Given the description of an element on the screen output the (x, y) to click on. 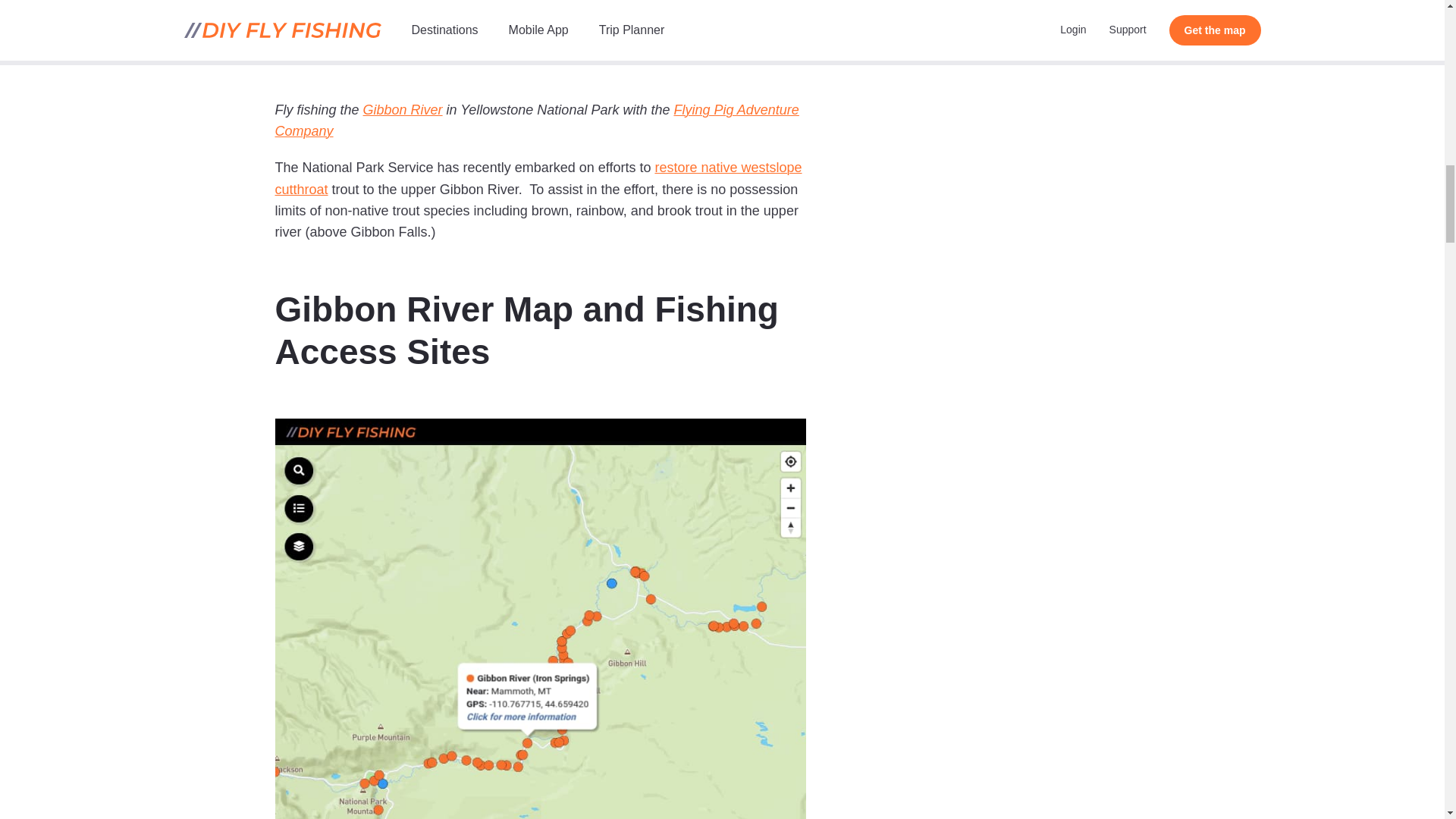
restore native westslope cutthroat (538, 177)
Flying Pig Adventure Company (536, 120)
Gibbon early season video (539, 25)
Gibbon River (402, 109)
